Given the description of an element on the screen output the (x, y) to click on. 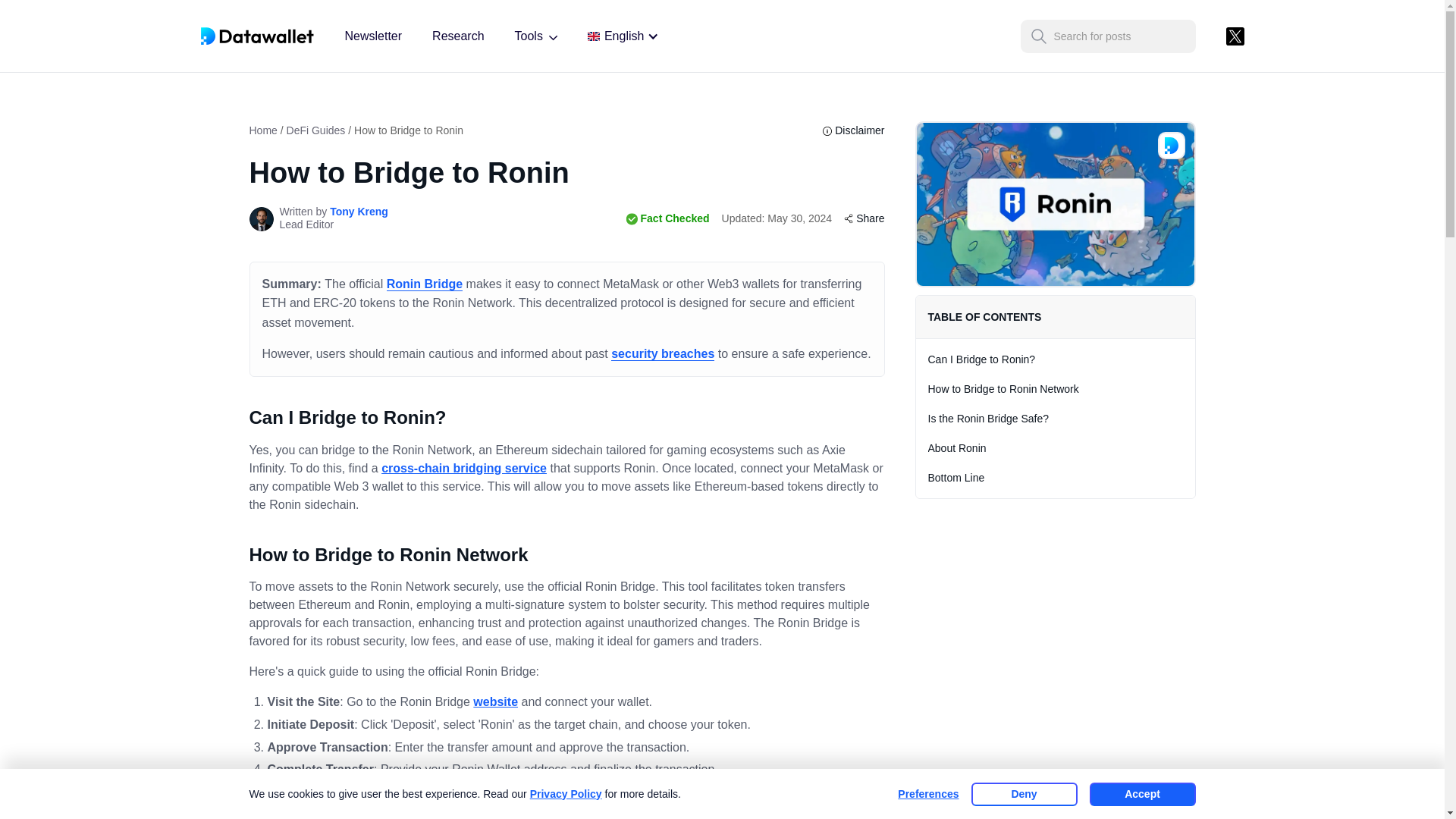
Share (863, 218)
Research (457, 36)
DeFi Guides (316, 130)
Disclaimer (852, 130)
Home (262, 130)
security breaches (662, 354)
website (495, 701)
Newsletter (372, 36)
cross-chain bridging service (464, 468)
Ronin Bridge (425, 284)
